Given the description of an element on the screen output the (x, y) to click on. 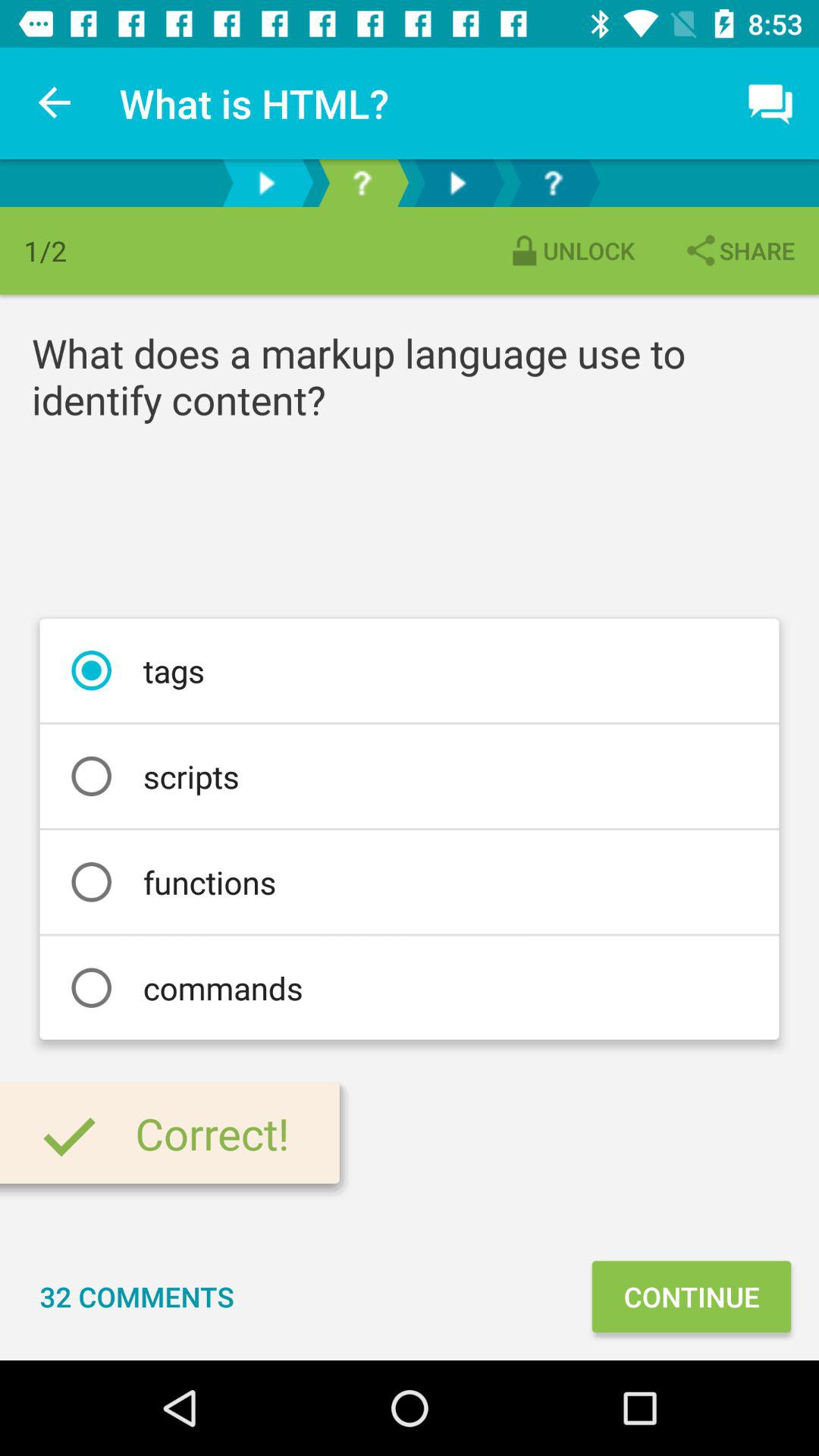
help (552, 183)
